Given the description of an element on the screen output the (x, y) to click on. 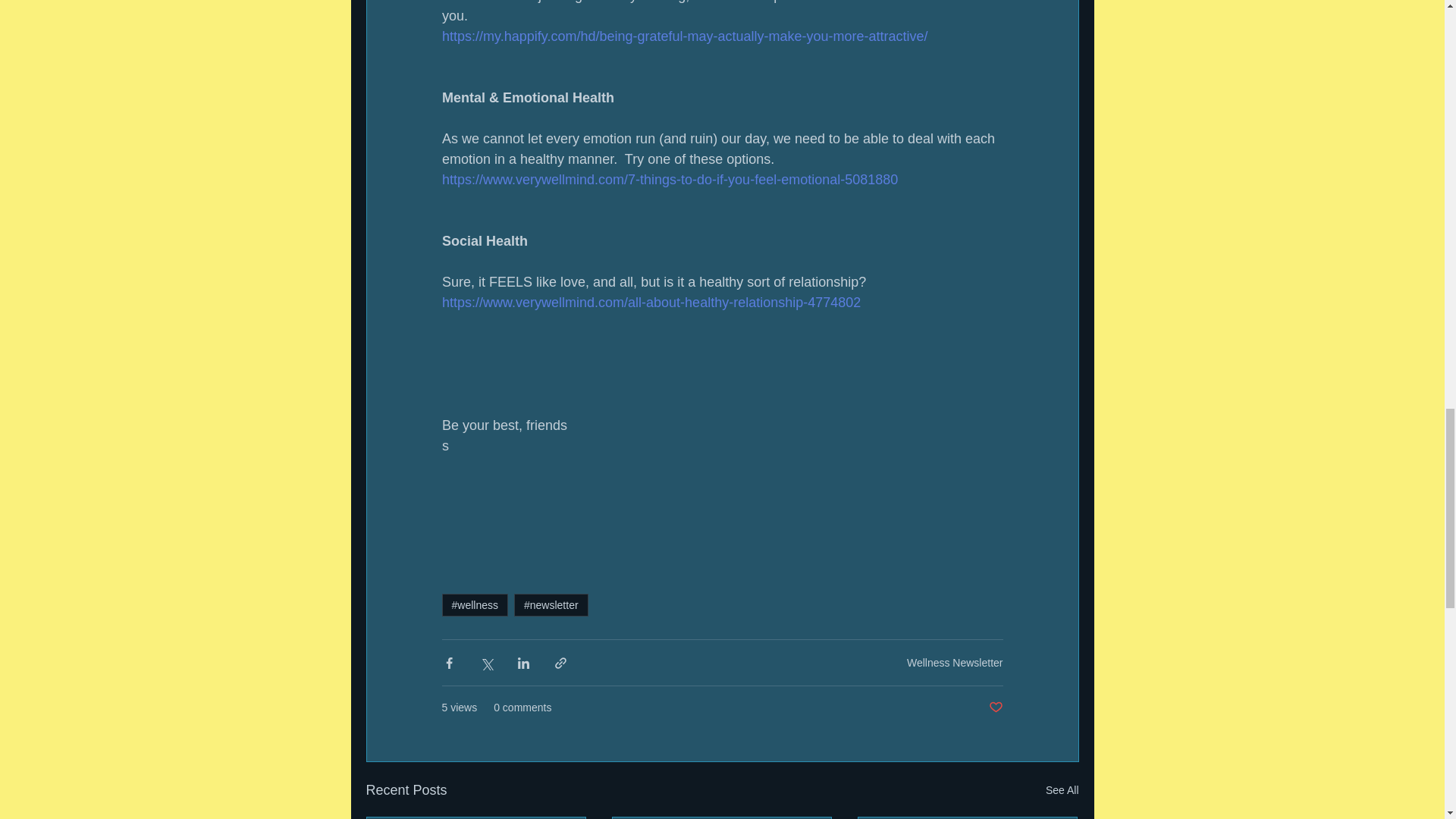
Post not marked as liked (995, 707)
See All (1061, 790)
Wellness Newsletter (955, 662)
